Given the description of an element on the screen output the (x, y) to click on. 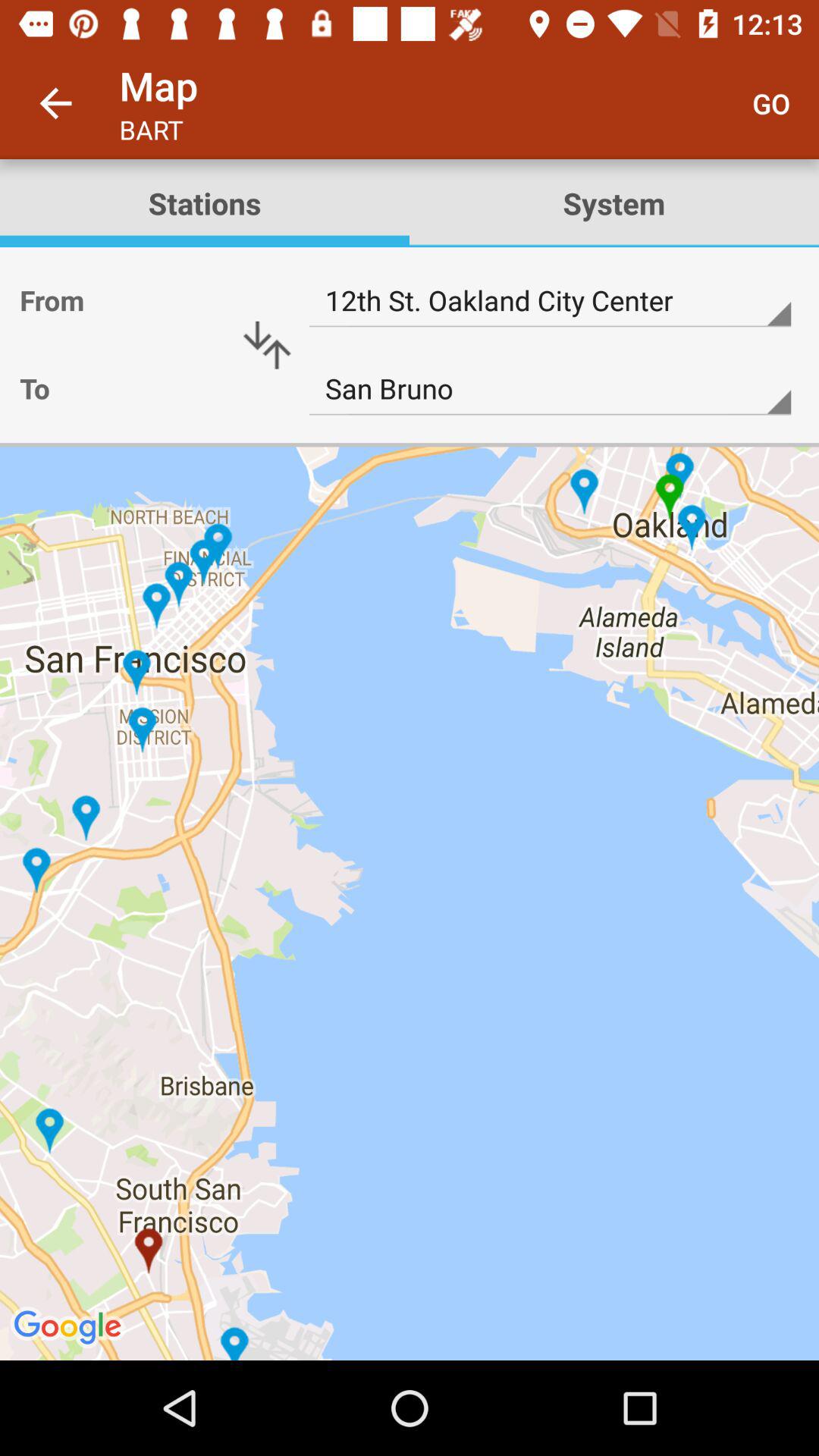
select the go (771, 103)
